Given the description of an element on the screen output the (x, y) to click on. 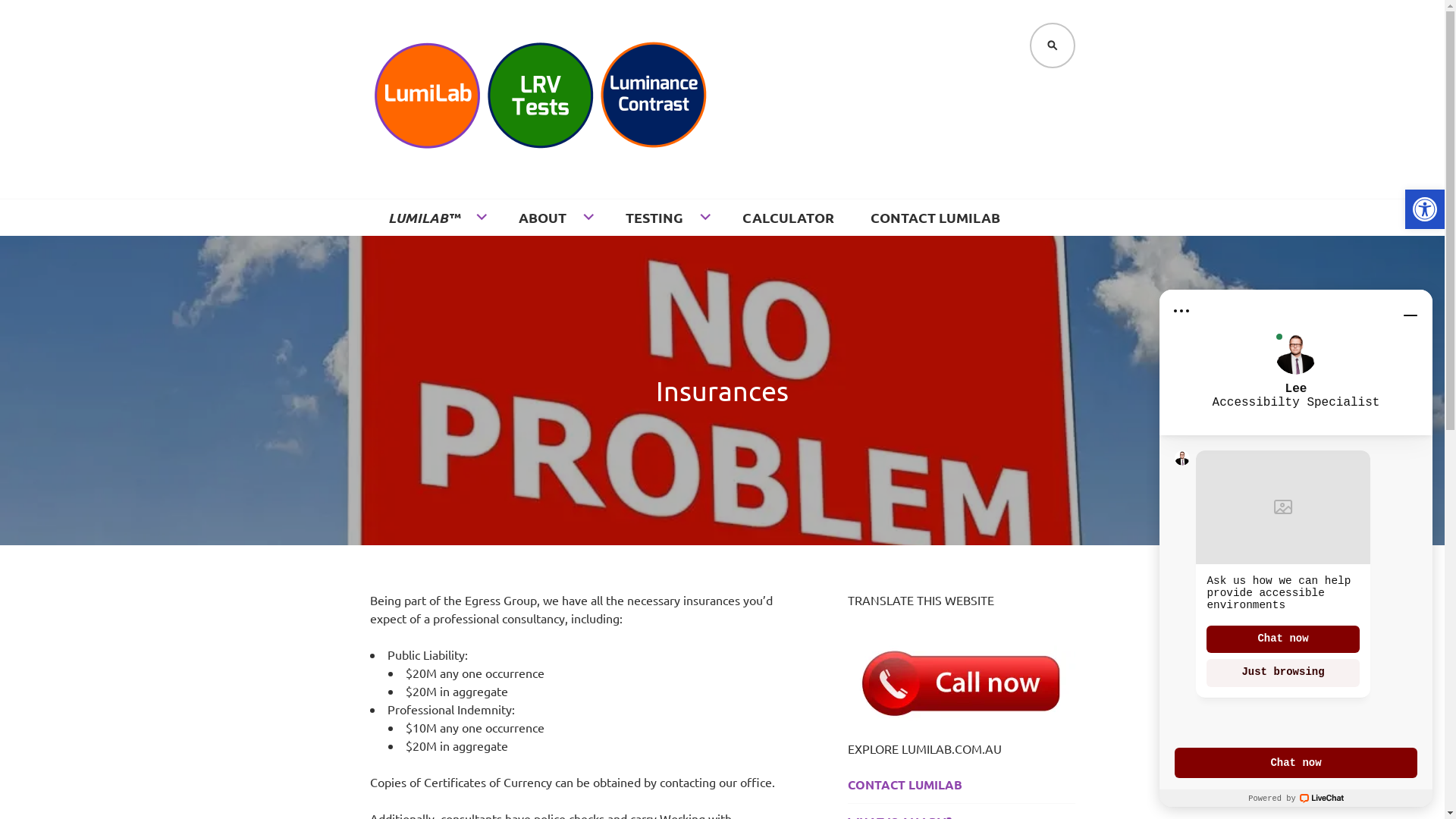
Open toolbar
Accessibility Tools Element type: text (1424, 209)
SEARCH Element type: text (1052, 45)
CONTACT LUMILAB Element type: text (935, 217)
TESTING Element type: text (664, 217)
ABOUT Element type: text (553, 217)
CONTACT LUMILAB Element type: text (961, 784)
CALCULATOR Element type: text (787, 217)
